Given the description of an element on the screen output the (x, y) to click on. 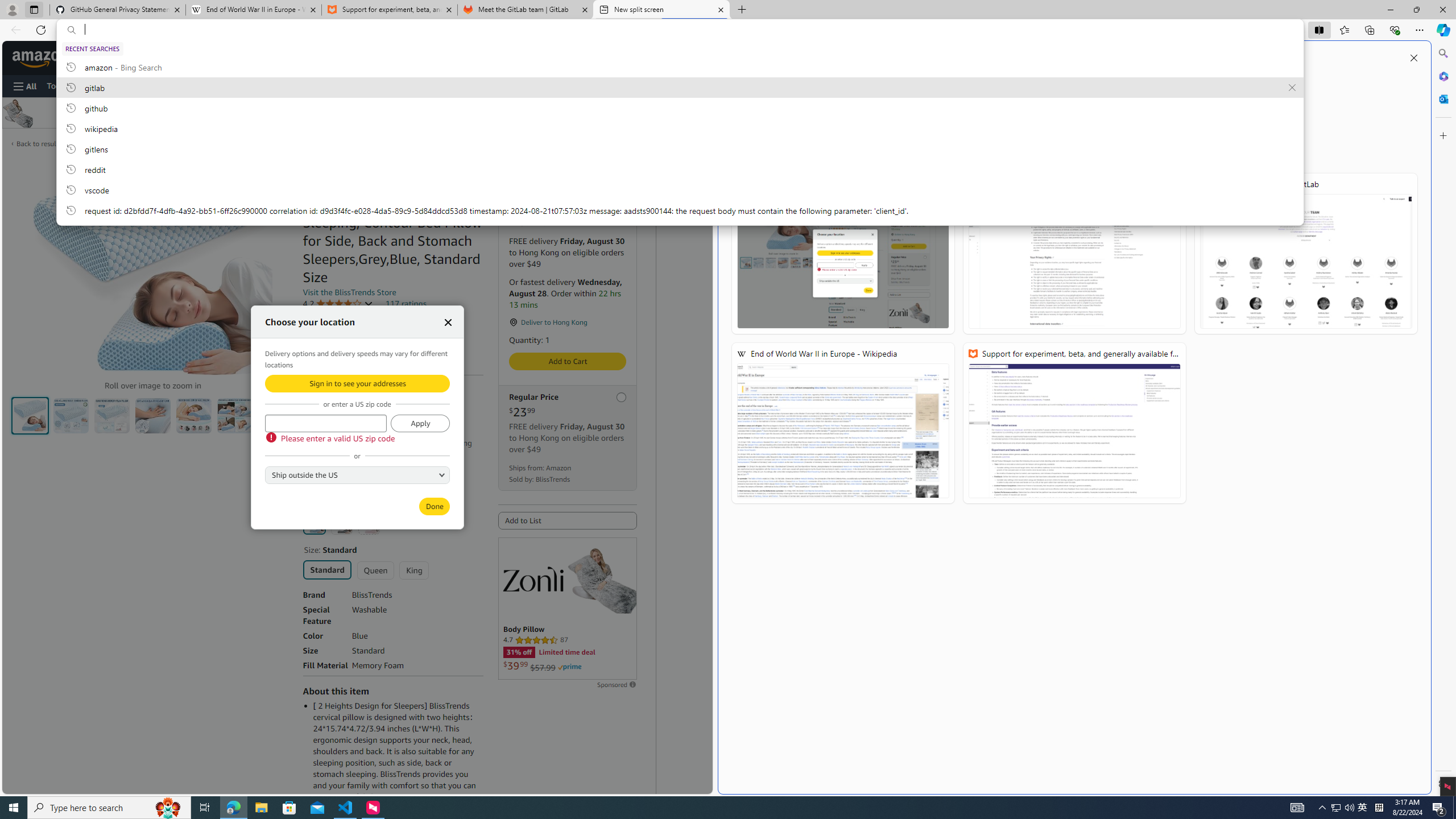
4.2 4.2 out of 5 stars (337, 303)
Registry (192, 85)
Open Menu (25, 86)
Amazon (40, 57)
Back to results (39, 143)
Today's Deals (71, 85)
Hello, sign in Account & Lists (509, 57)
Sustainability features (308, 350)
Sponsored ad (567, 608)
New split screen (660, 9)
